Given the description of an element on the screen output the (x, y) to click on. 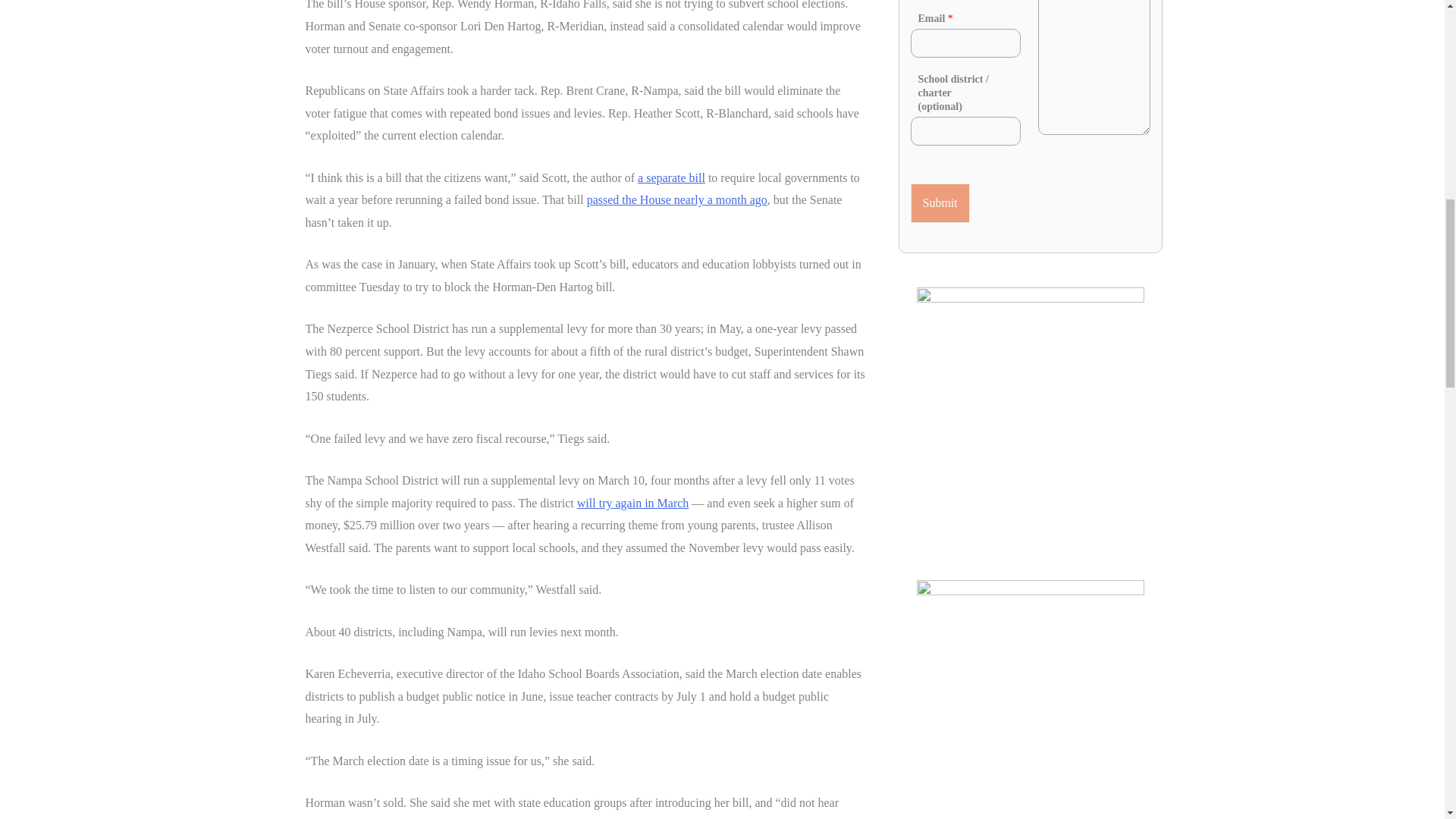
a separate bill (670, 177)
will try again in March (632, 502)
Submit (939, 202)
passed the House nearly a month ago (676, 199)
